Given the description of an element on the screen output the (x, y) to click on. 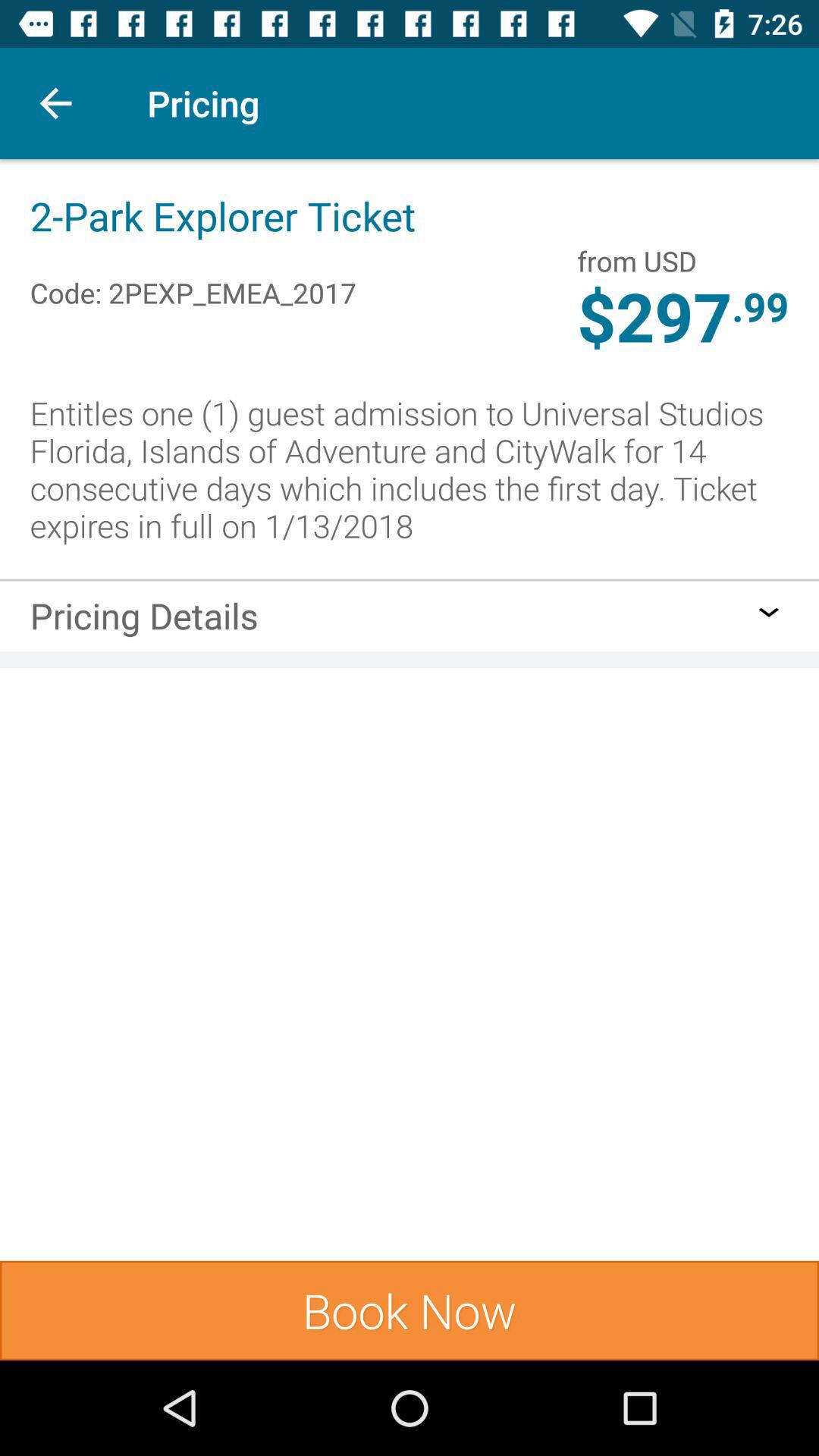
turn off item next to pricing icon (55, 103)
